Given the description of an element on the screen output the (x, y) to click on. 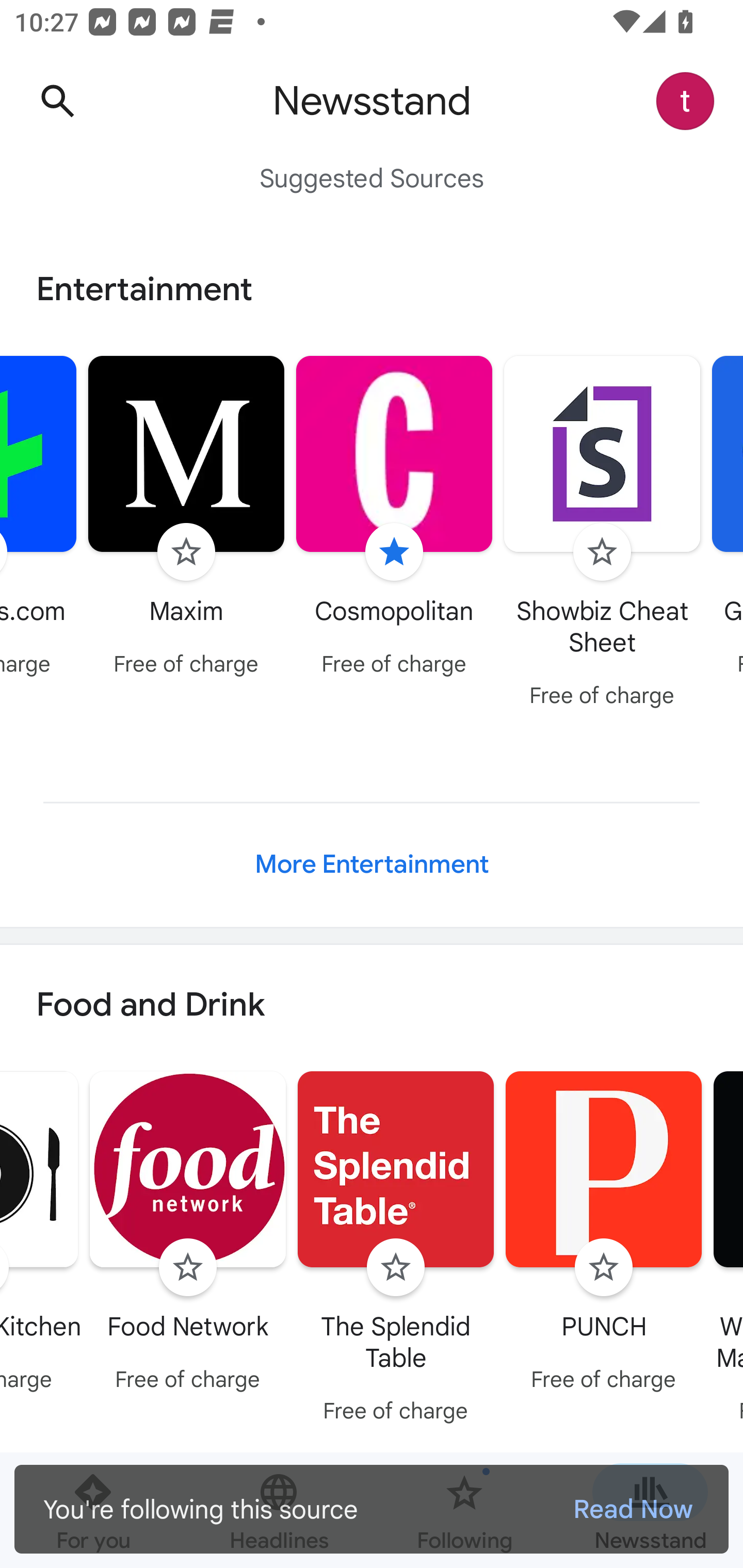
Search (57, 100)
Entertainment (371, 288)
Follow Maxim Free of charge (186, 517)
Unfollow Cosmopolitan Free of charge (394, 517)
Follow Showbiz Cheat Sheet Free of charge (602, 534)
Follow (186, 551)
Unfollow (393, 551)
Follow (601, 551)
More Entertainment (371, 864)
Food and Drink (371, 1005)
Follow Food Network Free of charge (187, 1234)
Follow The Splendid Table Free of charge (395, 1250)
Follow PUNCH Free of charge (604, 1234)
Follow (187, 1267)
Follow (395, 1267)
Follow (603, 1267)
Read Now (632, 1509)
More Food and Drink (371, 1527)
